Given the description of an element on the screen output the (x, y) to click on. 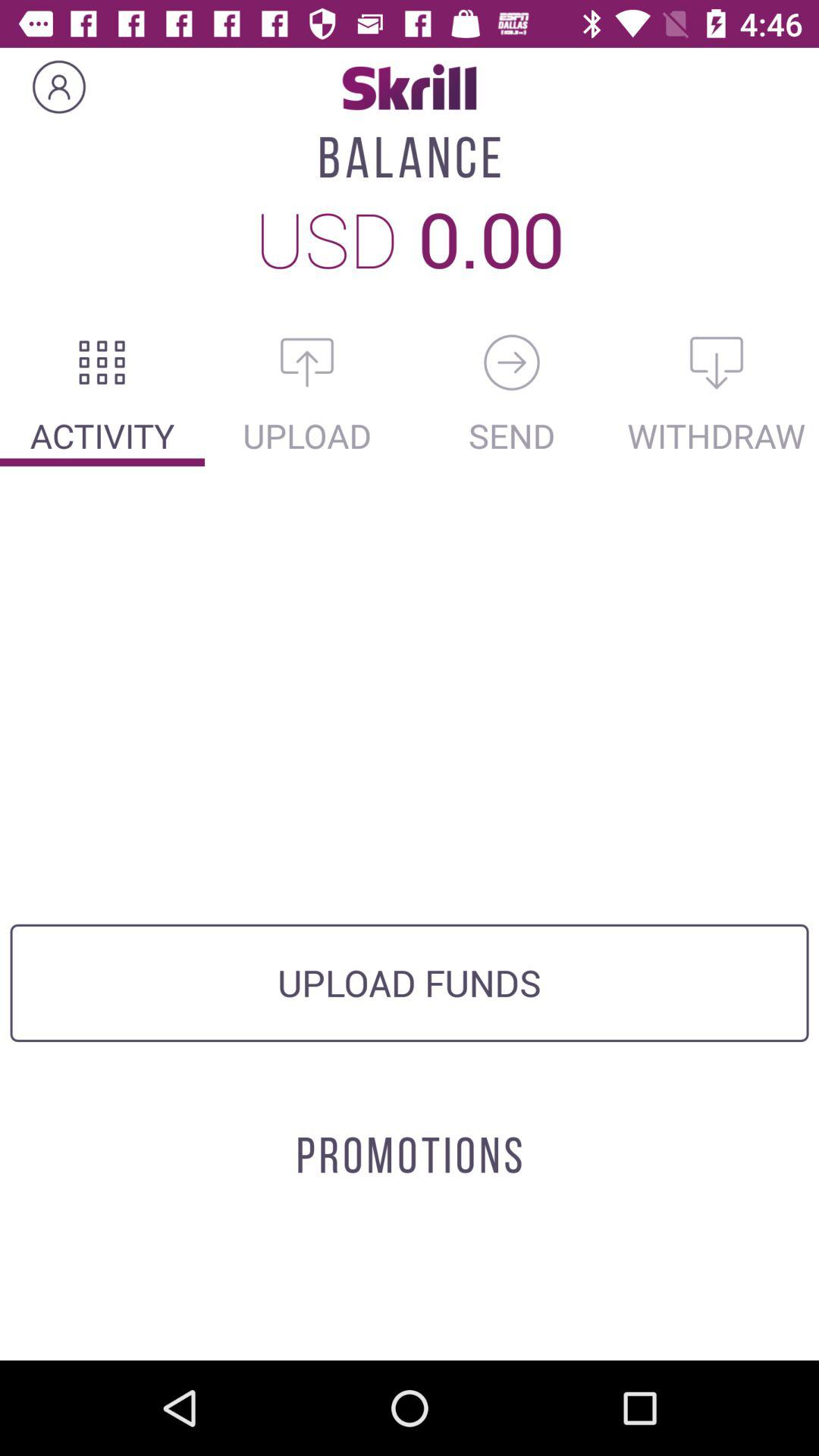
withdraw (716, 362)
